Given the description of an element on the screen output the (x, y) to click on. 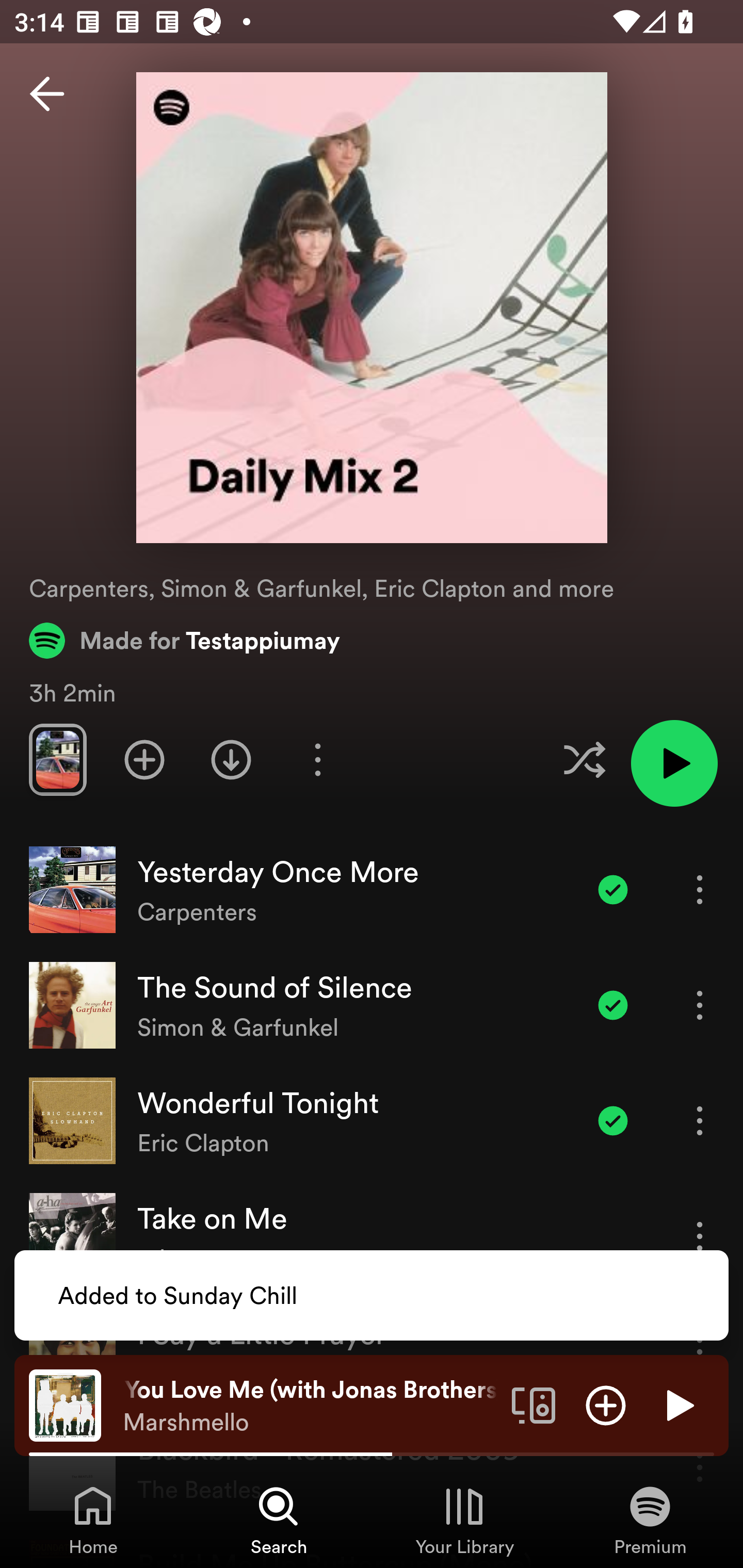
Back (46, 93)
Made for Testappiumay (184, 640)
Swipe through previews of tracks in this playlist. (57, 759)
Add playlist to Your Library (144, 759)
Download (230, 759)
More options for playlist Daily Mix 2 (317, 759)
Enable shuffle for this playlist (583, 759)
Play playlist (674, 763)
Item added (612, 889)
More options for song Yesterday Once More (699, 889)
Item added (612, 1004)
More options for song The Sound of Silence (699, 1004)
Item added (612, 1120)
More options for song Wonderful Tonight (699, 1120)
Take on Me a-ha More options for song Take on Me (371, 1236)
More options for song Take on Me (699, 1236)
